Given the description of an element on the screen output the (x, y) to click on. 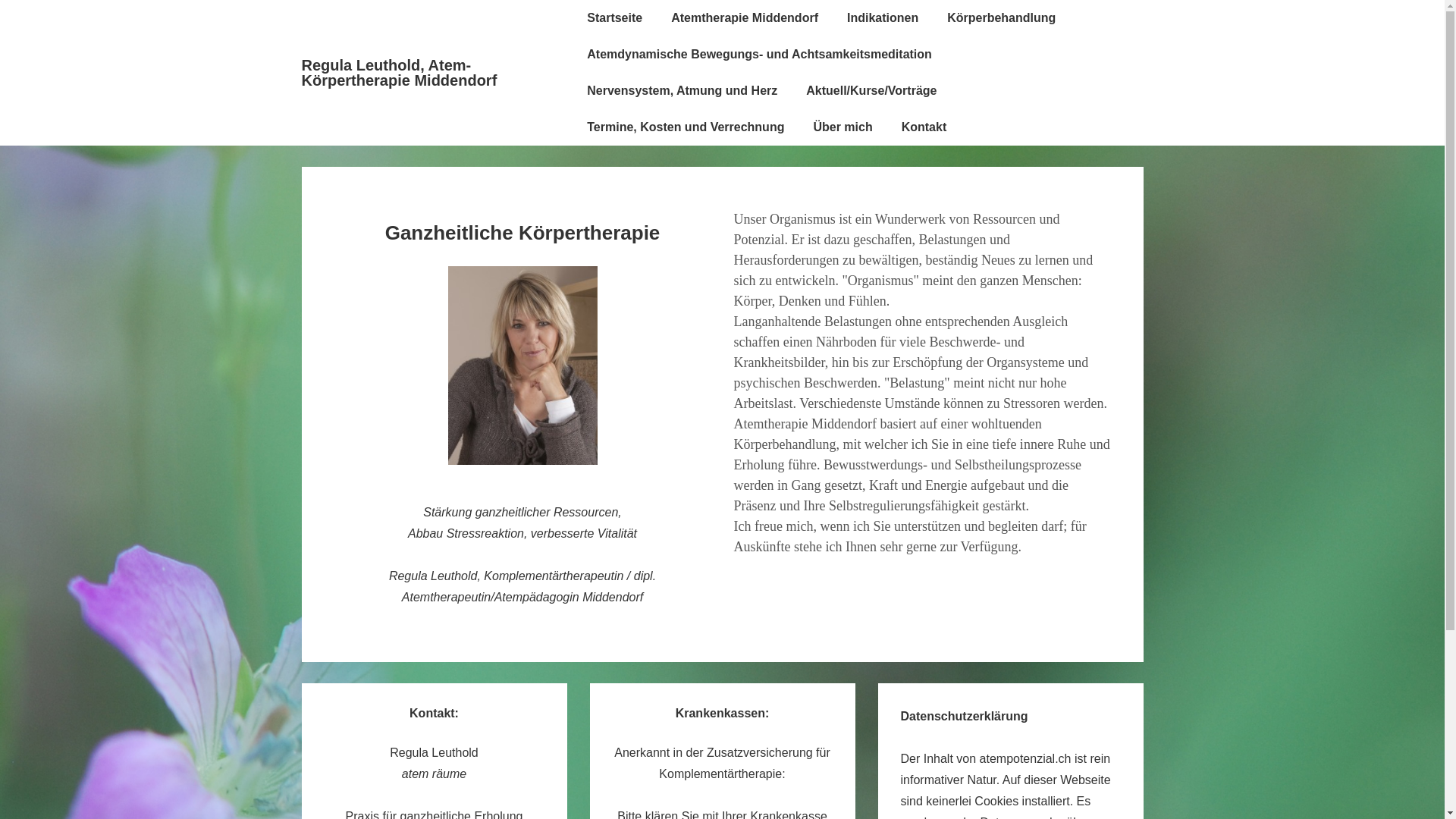
Kontakt Element type: text (924, 127)
Startseite Element type: text (614, 18)
Nervensystem, Atmung und Herz Element type: text (681, 90)
Atemdynamische Bewegungs- und Achtsamkeitsmeditation Element type: text (759, 54)
Termine, Kosten und Verrechnung Element type: text (685, 127)
Indikationen Element type: text (882, 18)
Atemtherapie Middendorf Element type: text (744, 18)
